Given the description of an element on the screen output the (x, y) to click on. 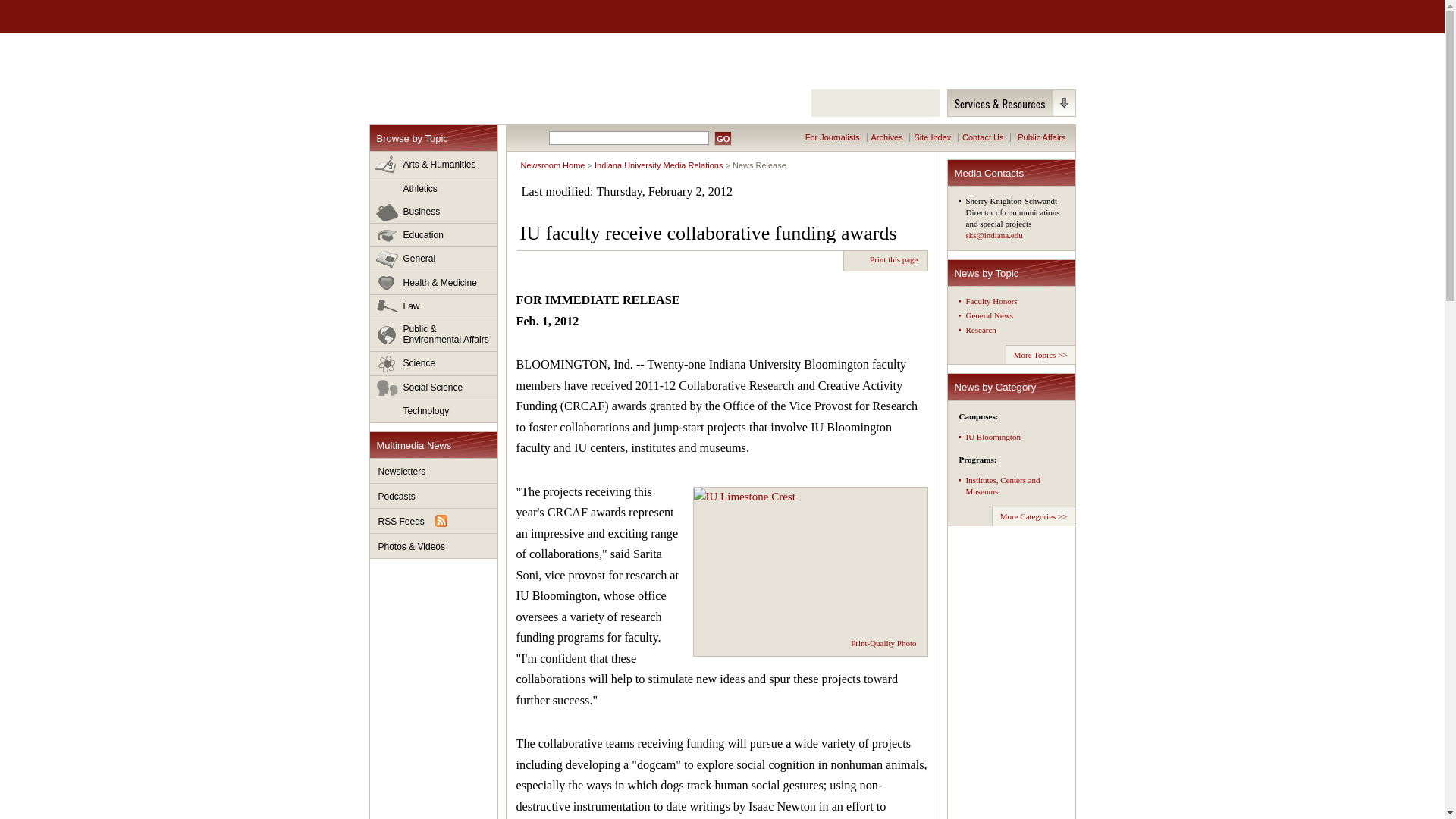
Indiana University (448, 16)
Social Science (433, 387)
Law (433, 306)
Technology (433, 411)
General (433, 259)
Newsletters (433, 471)
Athletics (433, 188)
Athletics (433, 188)
IU News Room (455, 69)
Science (433, 363)
IU News Room (455, 69)
RSS Feeds (433, 520)
Business (433, 211)
General (433, 259)
Education (433, 235)
